Given the description of an element on the screen output the (x, y) to click on. 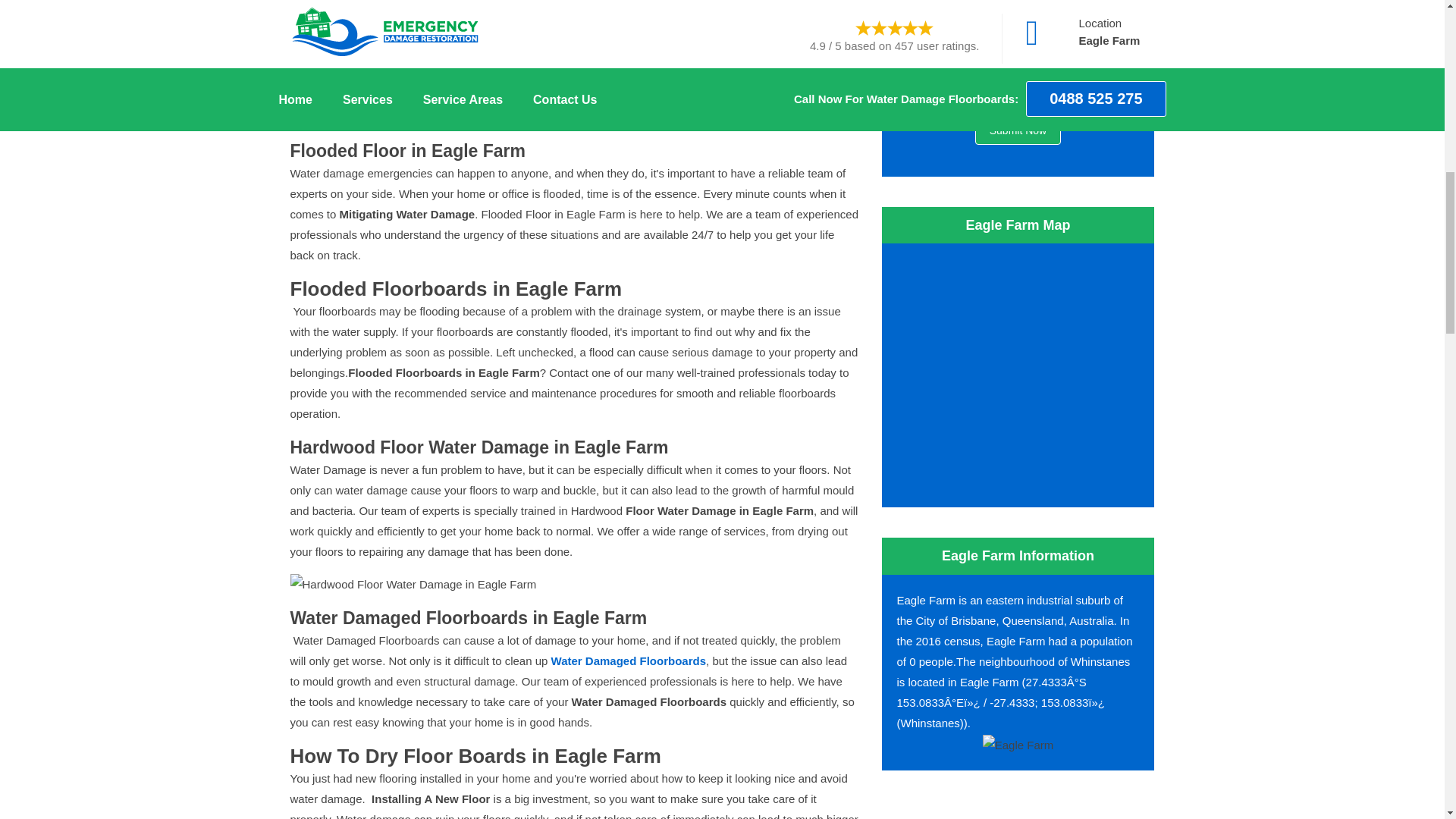
Water Damaged Floorboards (628, 660)
Submit Now (1018, 130)
